Given the description of an element on the screen output the (x, y) to click on. 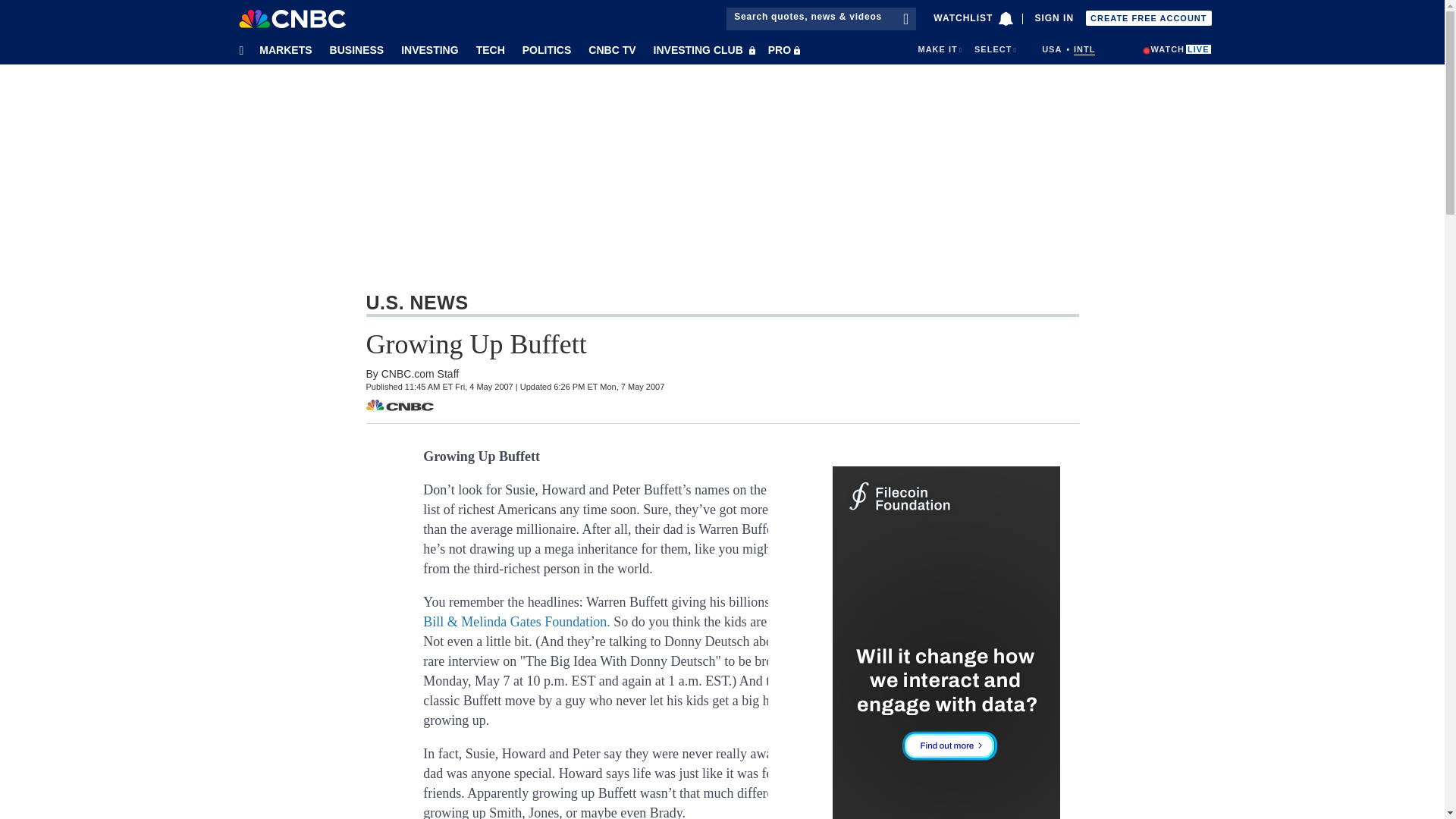
INVESTING (427, 48)
MARKETS (282, 48)
makeit (936, 49)
BUSINESS (354, 48)
TECH (487, 48)
